Given the description of an element on the screen output the (x, y) to click on. 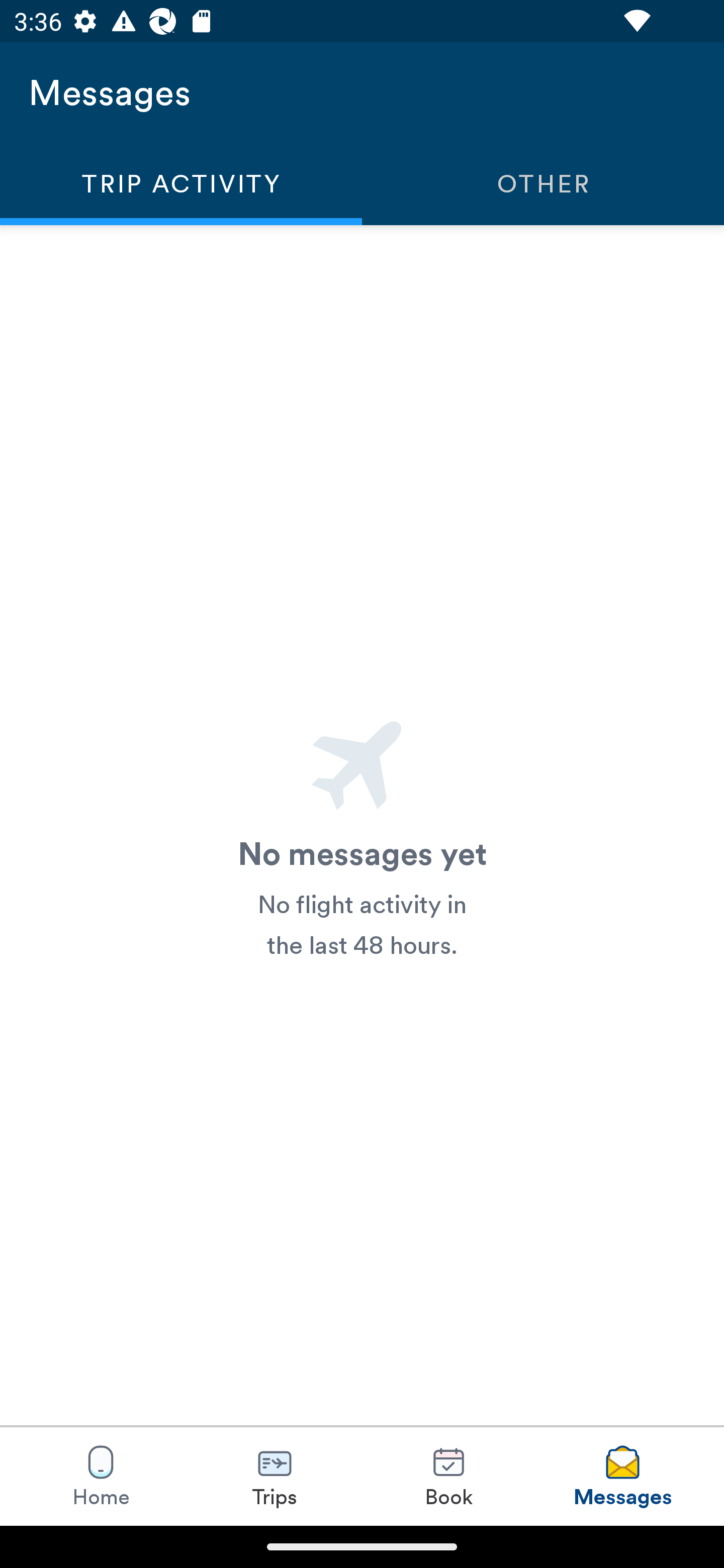
OTHER (543, 183)
Home (100, 1475)
Trips (275, 1475)
Book (448, 1475)
Messages (622, 1475)
